Given the description of an element on the screen output the (x, y) to click on. 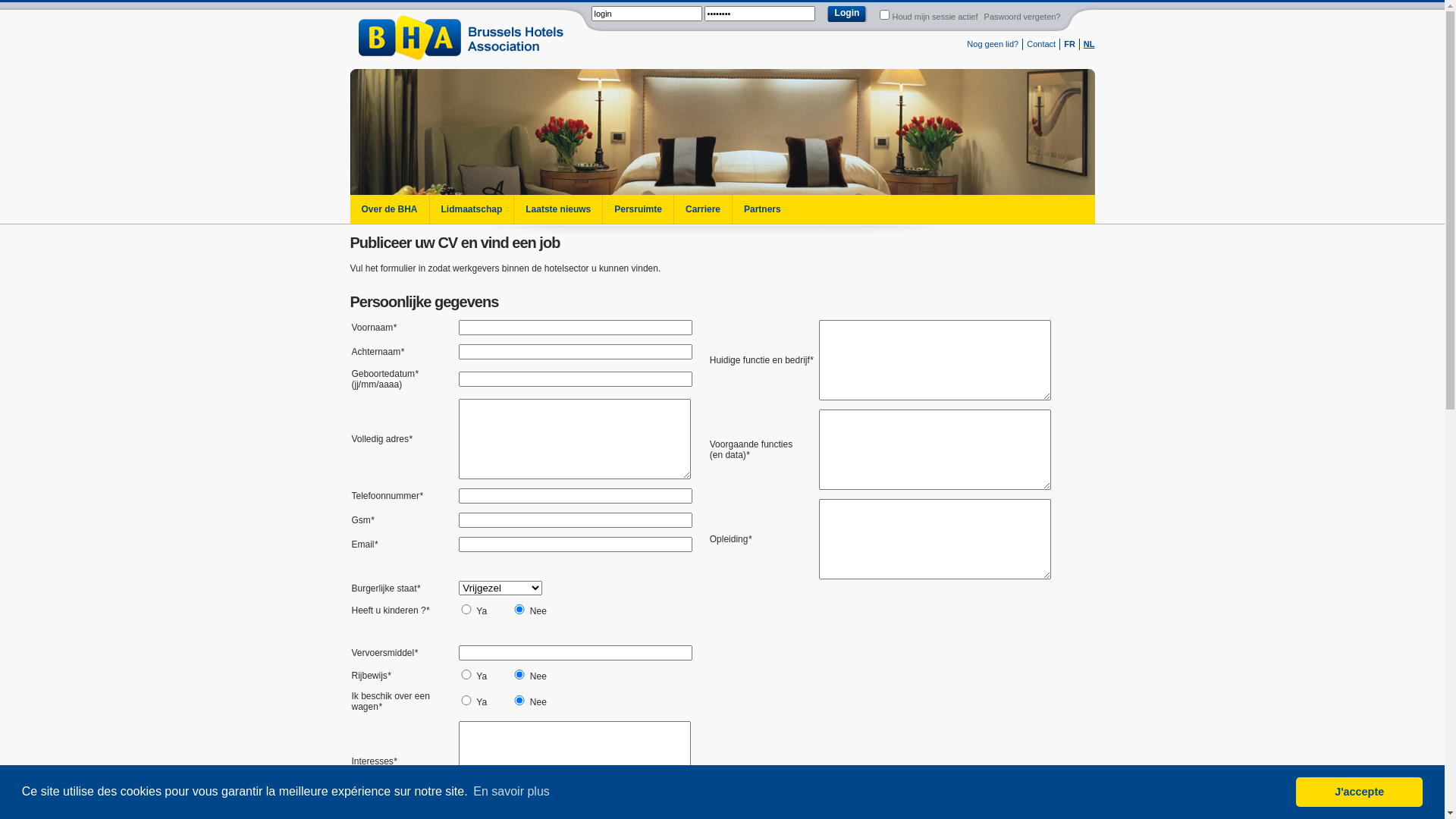
Paswoord vergeten? Element type: text (1022, 16)
FR Element type: text (1069, 43)
NL Element type: text (1089, 43)
Carriere Element type: text (702, 208)
Contact Element type: text (1040, 43)
Laatste nieuws Element type: text (557, 208)
En savoir plus Element type: text (511, 791)
Nog geen lid? Element type: text (992, 43)
Over de BHA Element type: text (389, 208)
Persruimte Element type: text (637, 208)
Partners Element type: text (761, 208)
Login Element type: text (847, 13)
Lidmaatschap Element type: text (471, 208)
J'accepte Element type: text (1358, 791)
